Given the description of an element on the screen output the (x, y) to click on. 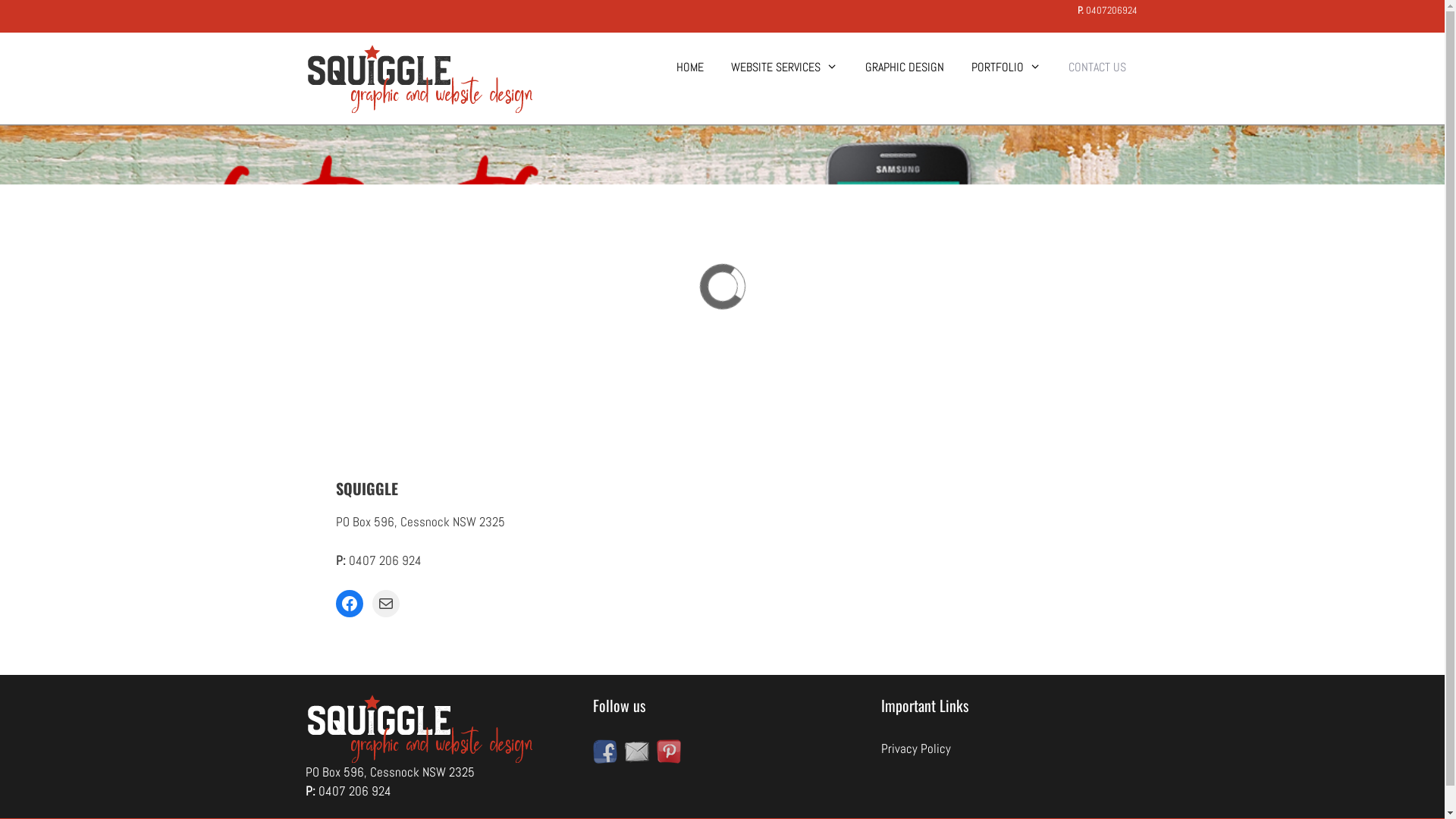
Email us Element type: hover (636, 751)
GRAPHIC DESIGN Element type: text (904, 67)
HOME Element type: text (689, 67)
Facebook Element type: text (348, 603)
Mail Element type: text (384, 603)
WEBSITE SERVICES Element type: text (784, 67)
Facebook Element type: hover (605, 751)
Privacy Policy Element type: text (915, 748)
Pinterest Element type: hover (668, 751)
PORTFOLIO Element type: text (1005, 67)
CONTACT US Element type: text (1096, 67)
